Given the description of an element on the screen output the (x, y) to click on. 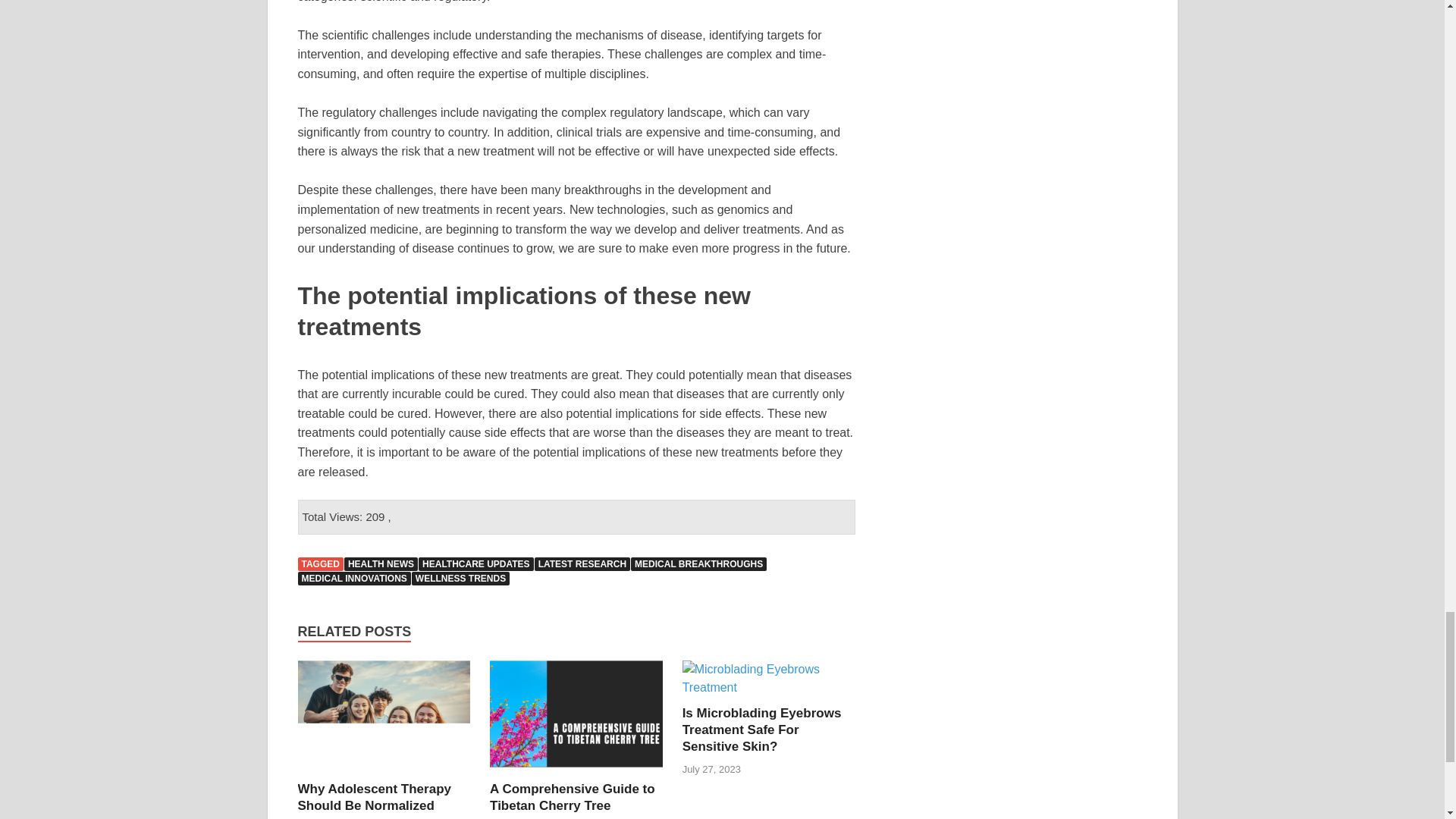
HEALTH NEWS (380, 563)
Why Adolescent Therapy Should Be Normalized (373, 797)
A Comprehensive Guide to Tibetan Cherry Tree (575, 771)
Why Adolescent Therapy Should Be Normalized (373, 797)
MEDICAL BREAKTHROUGHS (698, 563)
MEDICAL INNOVATIONS (353, 578)
HEALTHCARE UPDATES (476, 563)
Is Microblading Eyebrows Treatment Safe For Sensitive Skin? (769, 686)
A Comprehensive Guide to Tibetan Cherry Tree (572, 797)
Why Adolescent Therapy Should Be Normalized (383, 771)
Is Microblading Eyebrows Treatment Safe For Sensitive Skin? (761, 729)
LATEST RESEARCH (582, 563)
WELLNESS TRENDS (460, 578)
A Comprehensive Guide to Tibetan Cherry Tree (572, 797)
